Given the description of an element on the screen output the (x, y) to click on. 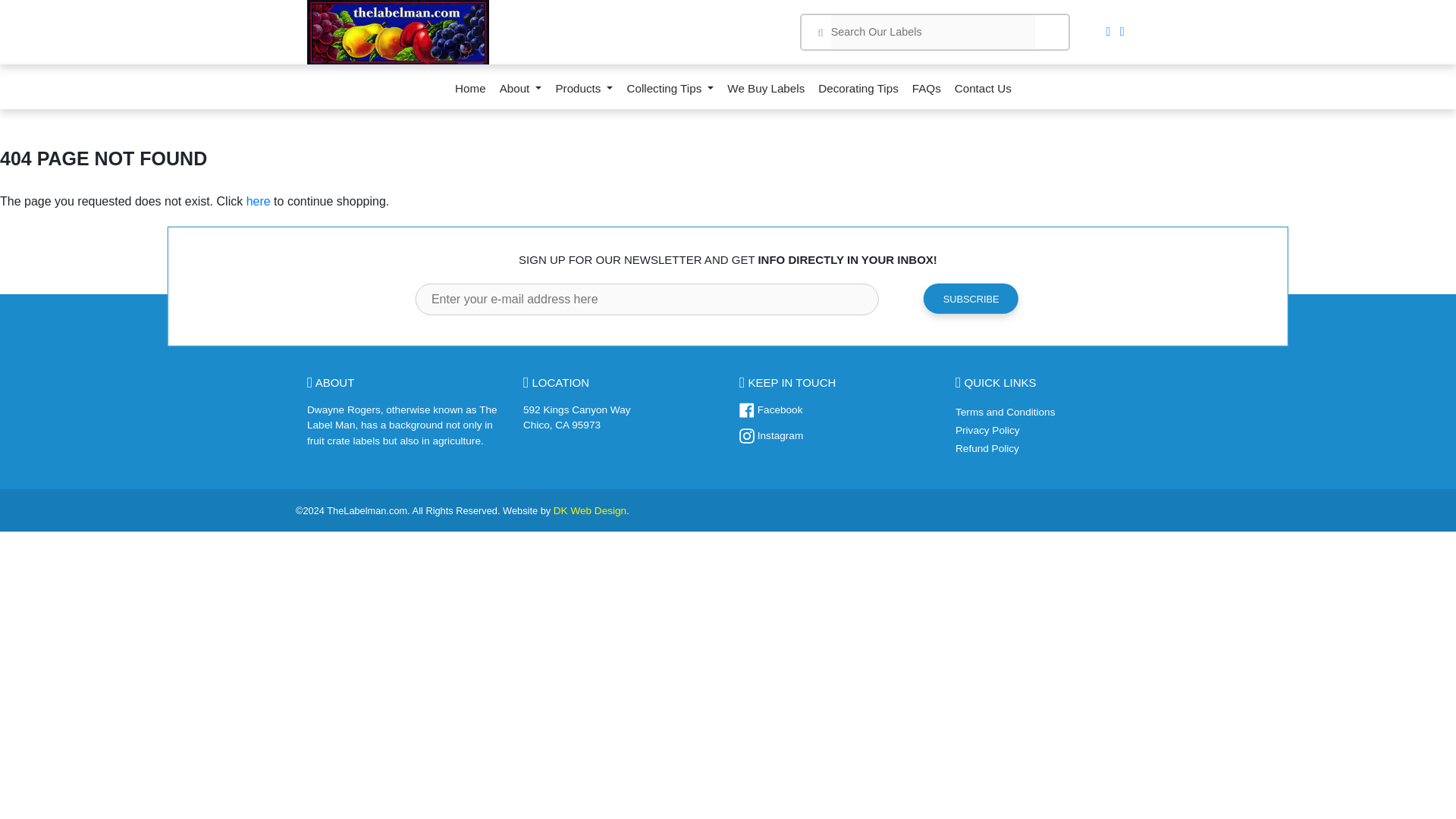
Collecting Tips (670, 92)
Refund Policy (987, 448)
We Buy Labels (765, 92)
Products (583, 92)
Enter your email address here (645, 299)
Subscribe (970, 298)
Subscribe (970, 298)
Terms and Conditions (1004, 411)
Search Our Labels (933, 32)
DK Web Design (589, 510)
